Given the description of an element on the screen output the (x, y) to click on. 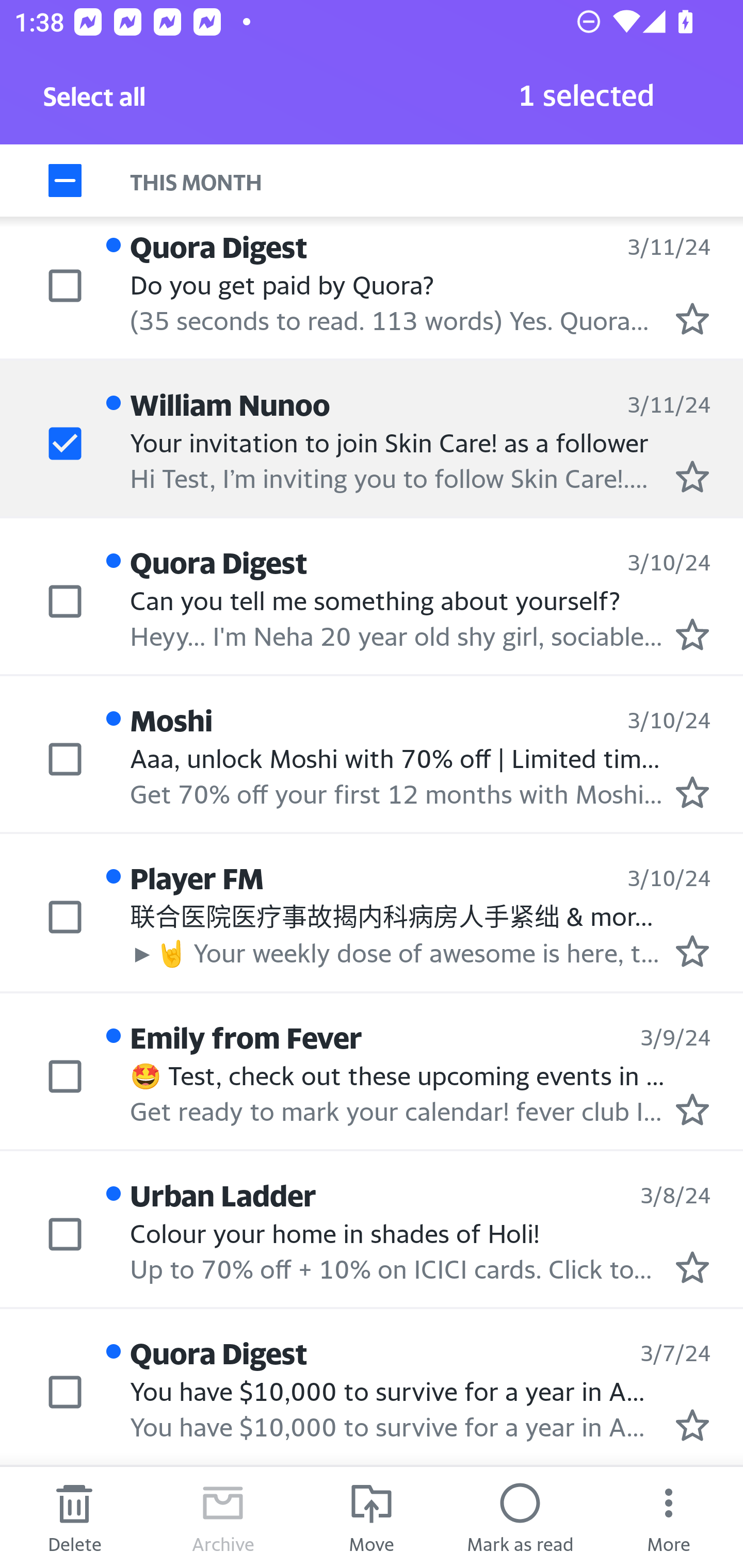
Select all (94, 101)
Mark as starred. (692, 319)
Mark as starred. (692, 475)
Mark as starred. (692, 634)
Mark as starred. (692, 792)
Mark as starred. (692, 950)
Mark as starred. (692, 1109)
Mark as starred. (692, 1267)
Mark as starred. (692, 1424)
Delete (74, 1517)
Archive (222, 1517)
Move (371, 1517)
Mark as read (519, 1517)
More (668, 1517)
